Given the description of an element on the screen output the (x, y) to click on. 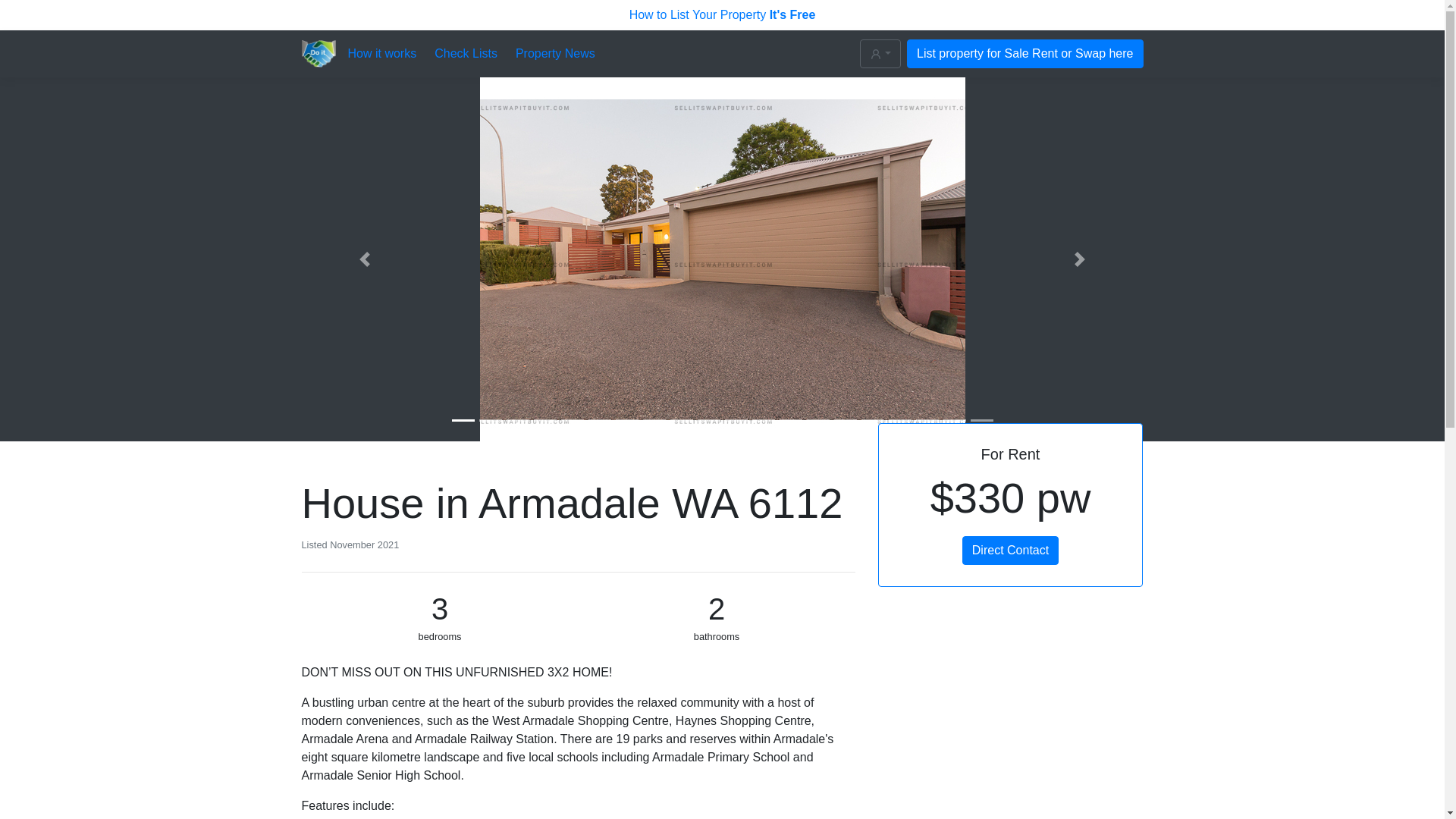
Check Lists (465, 54)
Property News (555, 54)
Direct Contact (1010, 550)
How it works (381, 54)
List property for Sale Rent or Swap here (1024, 53)
